Given the description of an element on the screen output the (x, y) to click on. 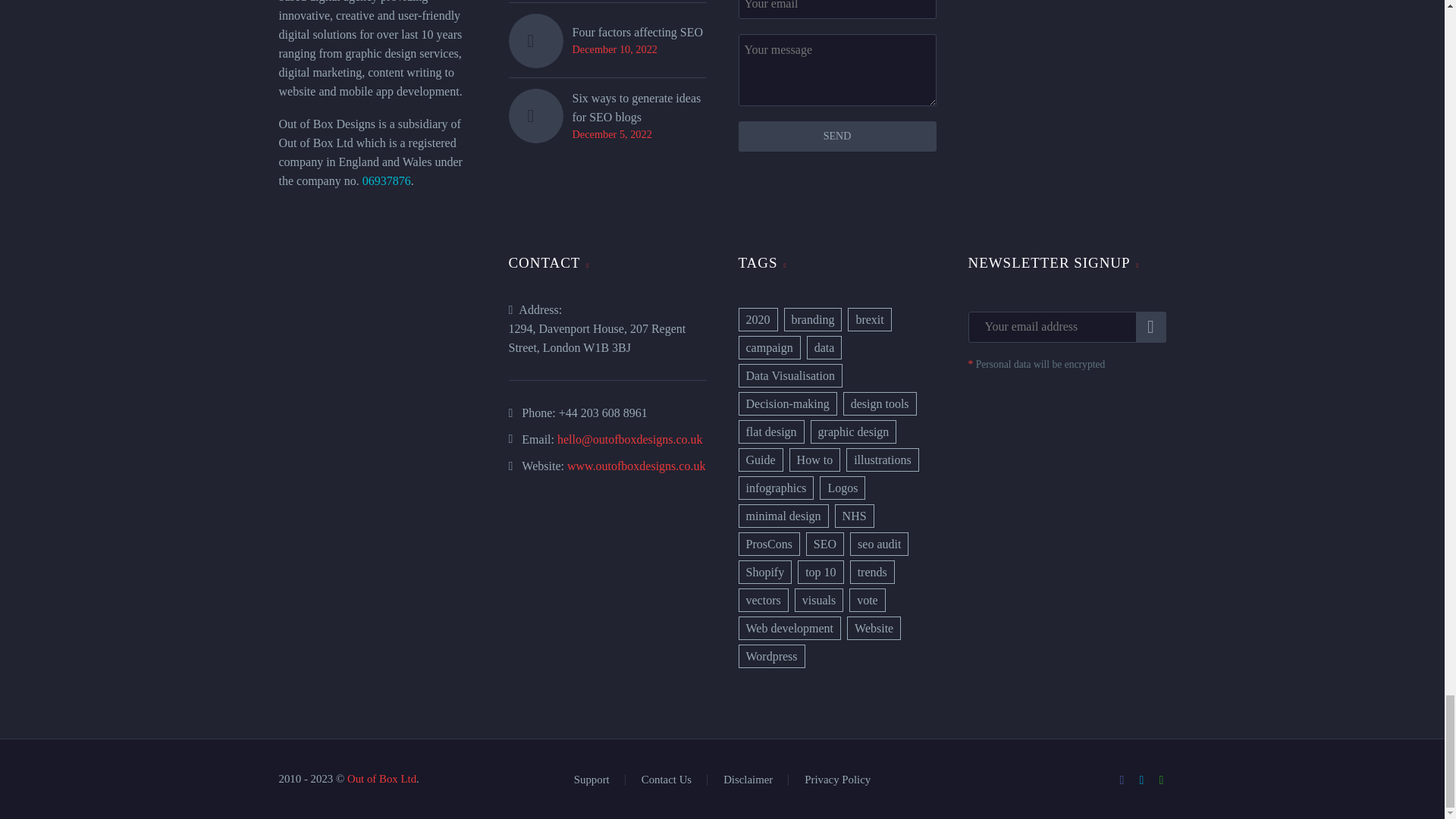
WhatsApp (1161, 779)
Facebook (1122, 779)
Twitter (1141, 779)
Send (837, 136)
